Given the description of an element on the screen output the (x, y) to click on. 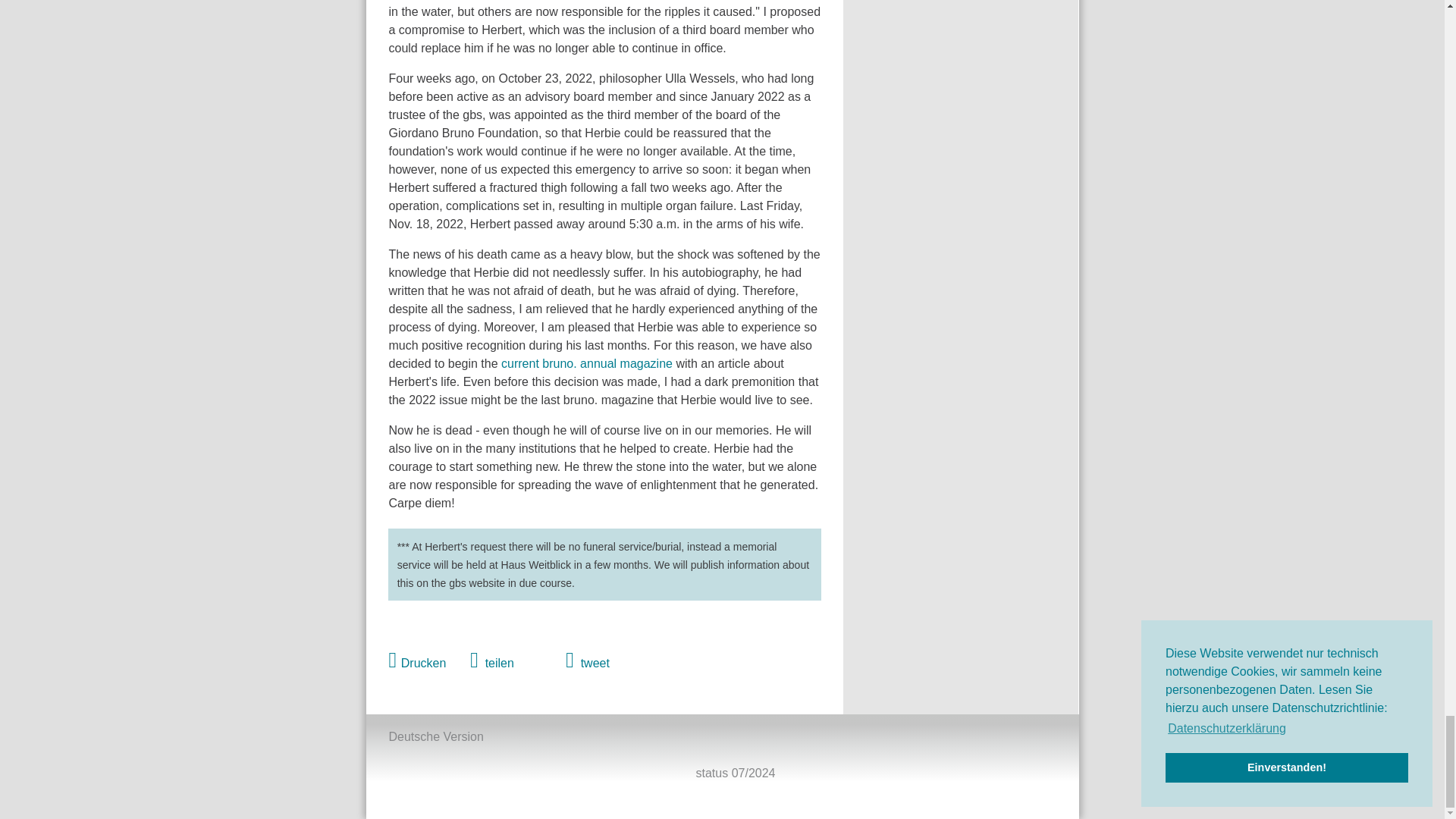
Bei Facebook teilen (491, 659)
Bei Twitter teilen (588, 659)
Display a printer-friendly version of this page. (416, 659)
